Given the description of an element on the screen output the (x, y) to click on. 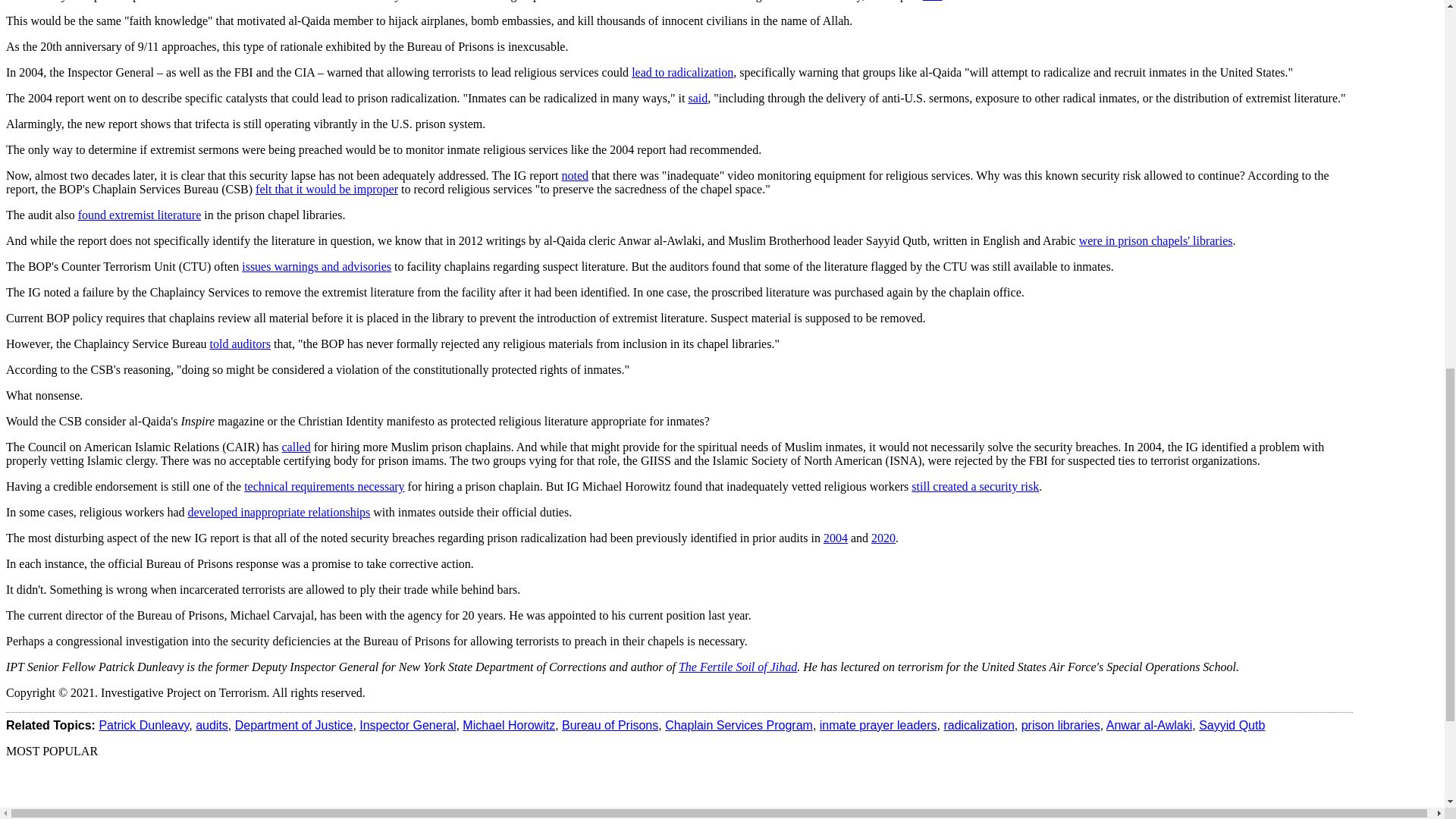
found extremist literature (140, 214)
issues warnings and advisories (316, 266)
were in prison chapels' libraries (1155, 240)
told auditors (239, 343)
lead to radicalization (682, 72)
noted (574, 174)
said (697, 97)
felt that it would be improper (326, 188)
called (295, 446)
